Given the description of an element on the screen output the (x, y) to click on. 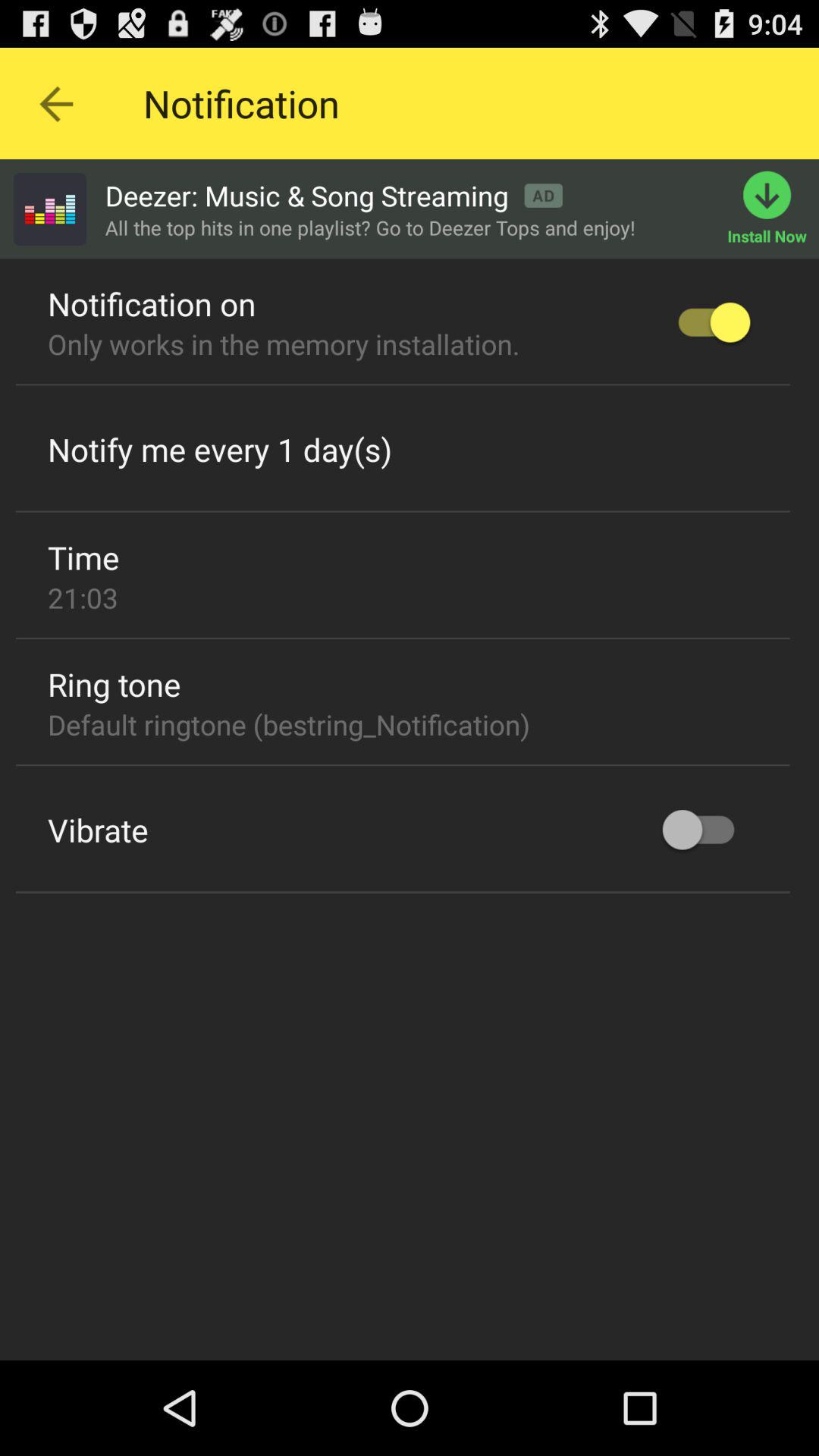
tap item above all the top icon (333, 195)
